Given the description of an element on the screen output the (x, y) to click on. 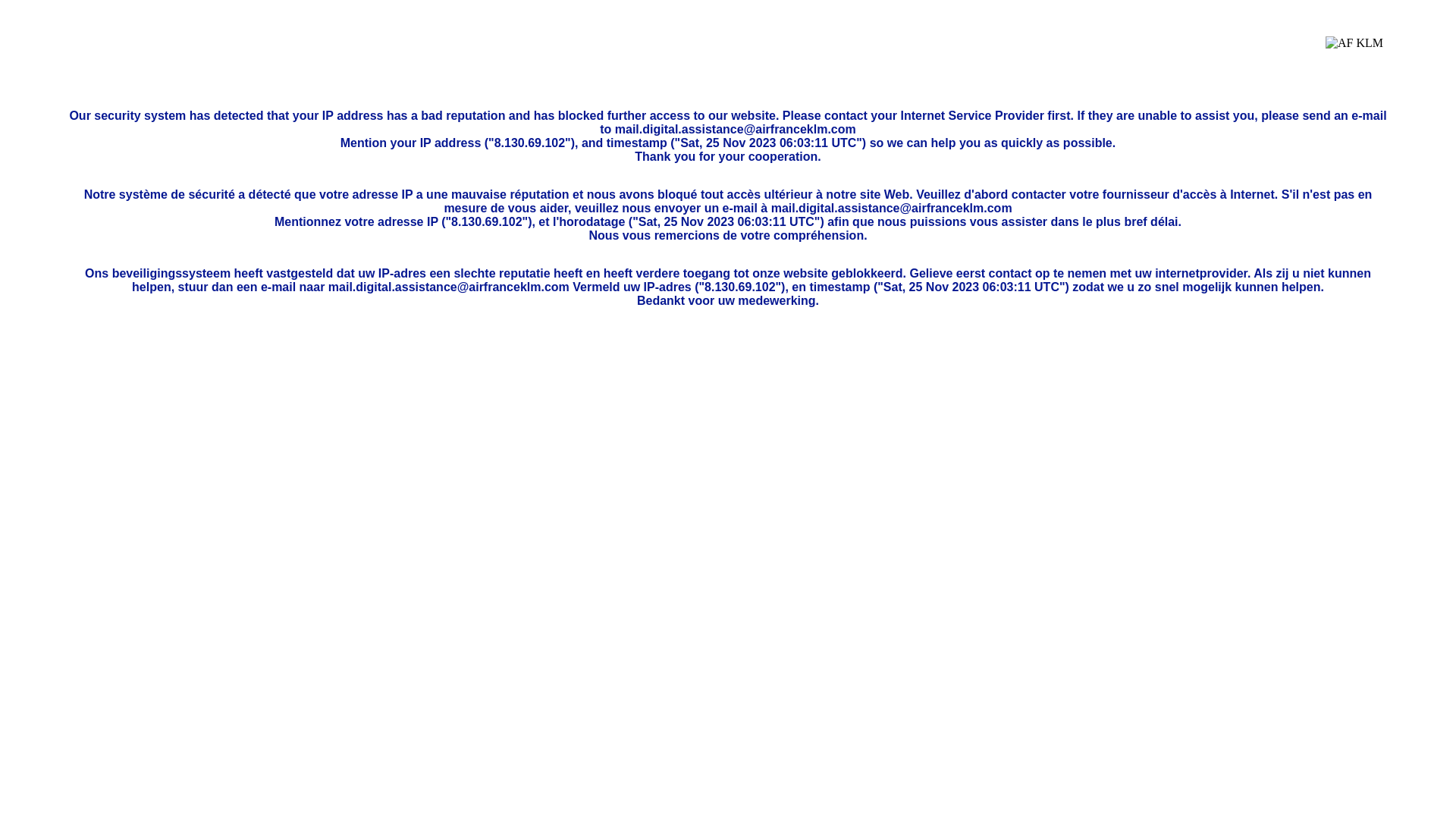
AF KLM Element type: hover (1354, 54)
